Given the description of an element on the screen output the (x, y) to click on. 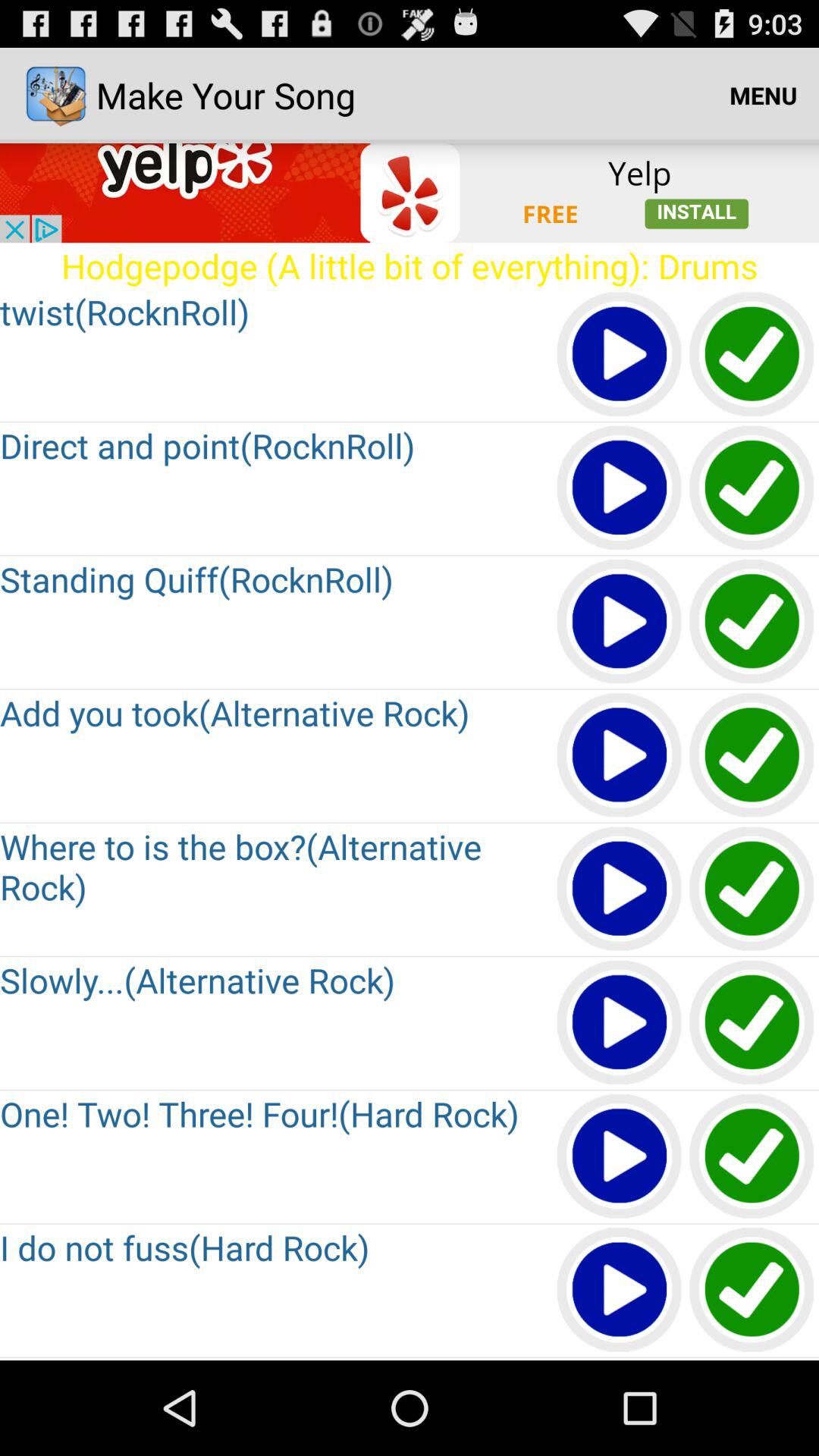
the app install in verified (752, 889)
